Given the description of an element on the screen output the (x, y) to click on. 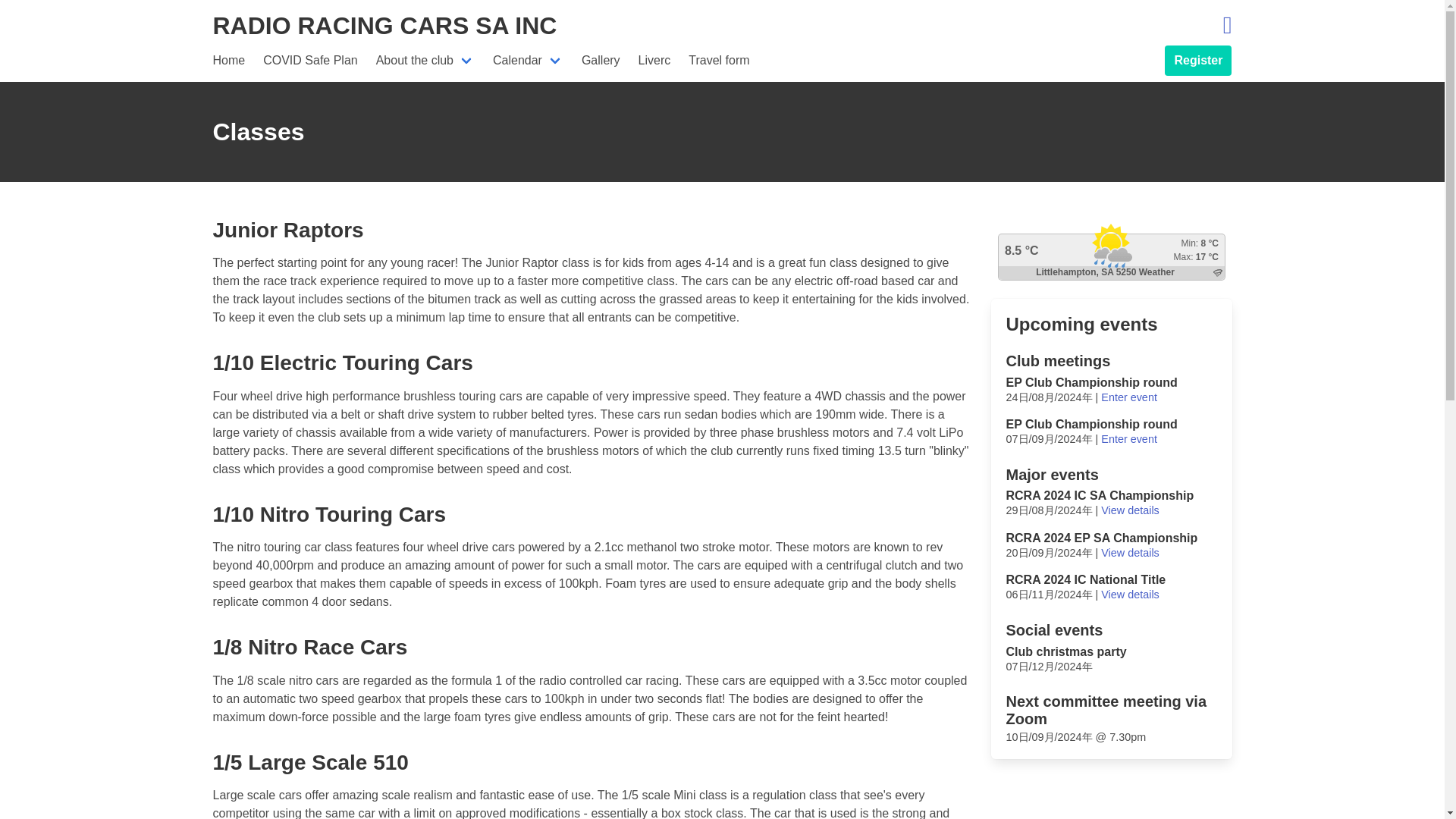
About the club (424, 60)
COVID Safe Plan (309, 60)
Liverc (653, 60)
Home (228, 60)
View details (1129, 552)
Liverc (653, 60)
COVID Safe Plan (309, 60)
Junior Raptors (287, 229)
About the club (424, 60)
Enter event (1128, 439)
